Given the description of an element on the screen output the (x, y) to click on. 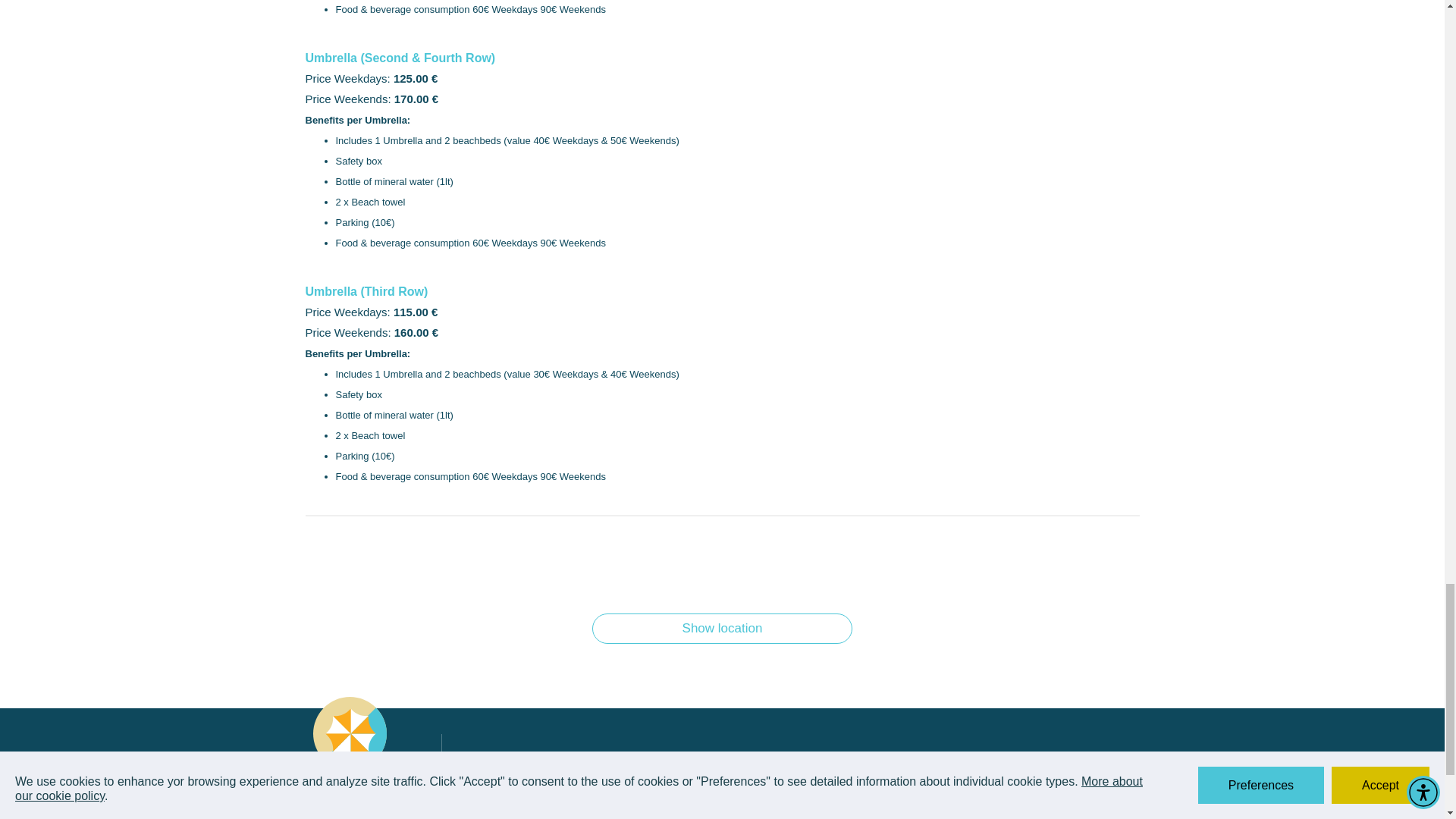
Help (631, 756)
Terms And Conditions (533, 795)
Show location (721, 628)
Policies (638, 775)
About Us (504, 756)
Contact Us (508, 775)
